Given the description of an element on the screen output the (x, y) to click on. 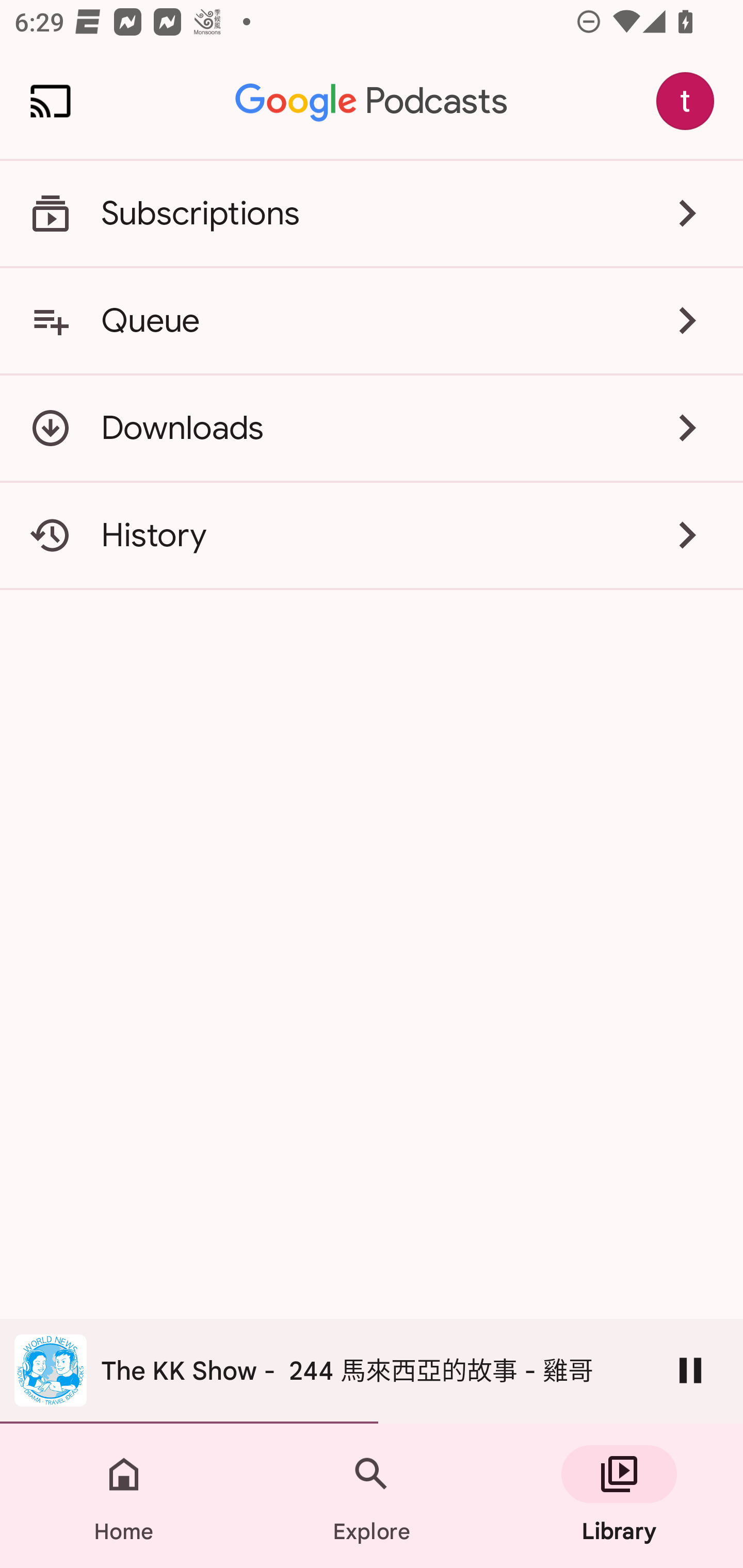
Cast. Disconnected (50, 101)
Subscriptions (371, 213)
Queue (371, 320)
Downloads (371, 427)
History (371, 535)
Pause (690, 1370)
Home (123, 1495)
Explore (371, 1495)
